Given the description of an element on the screen output the (x, y) to click on. 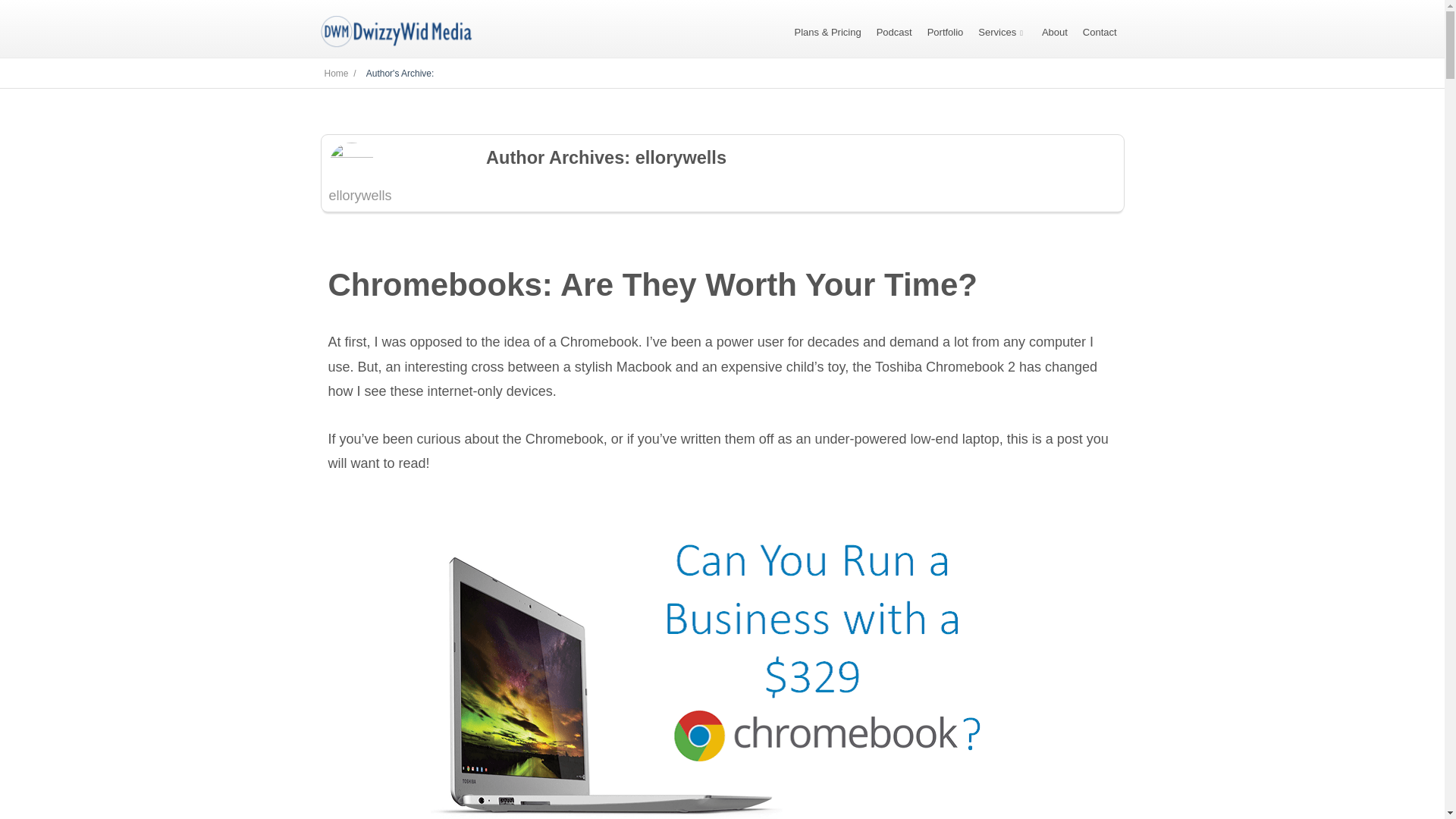
Chromebooks: Are They Worth Your Time? (651, 284)
Services (1002, 31)
Portfolio (945, 31)
About (1054, 31)
Podcast (894, 31)
Contact (1099, 31)
